Given the description of an element on the screen output the (x, y) to click on. 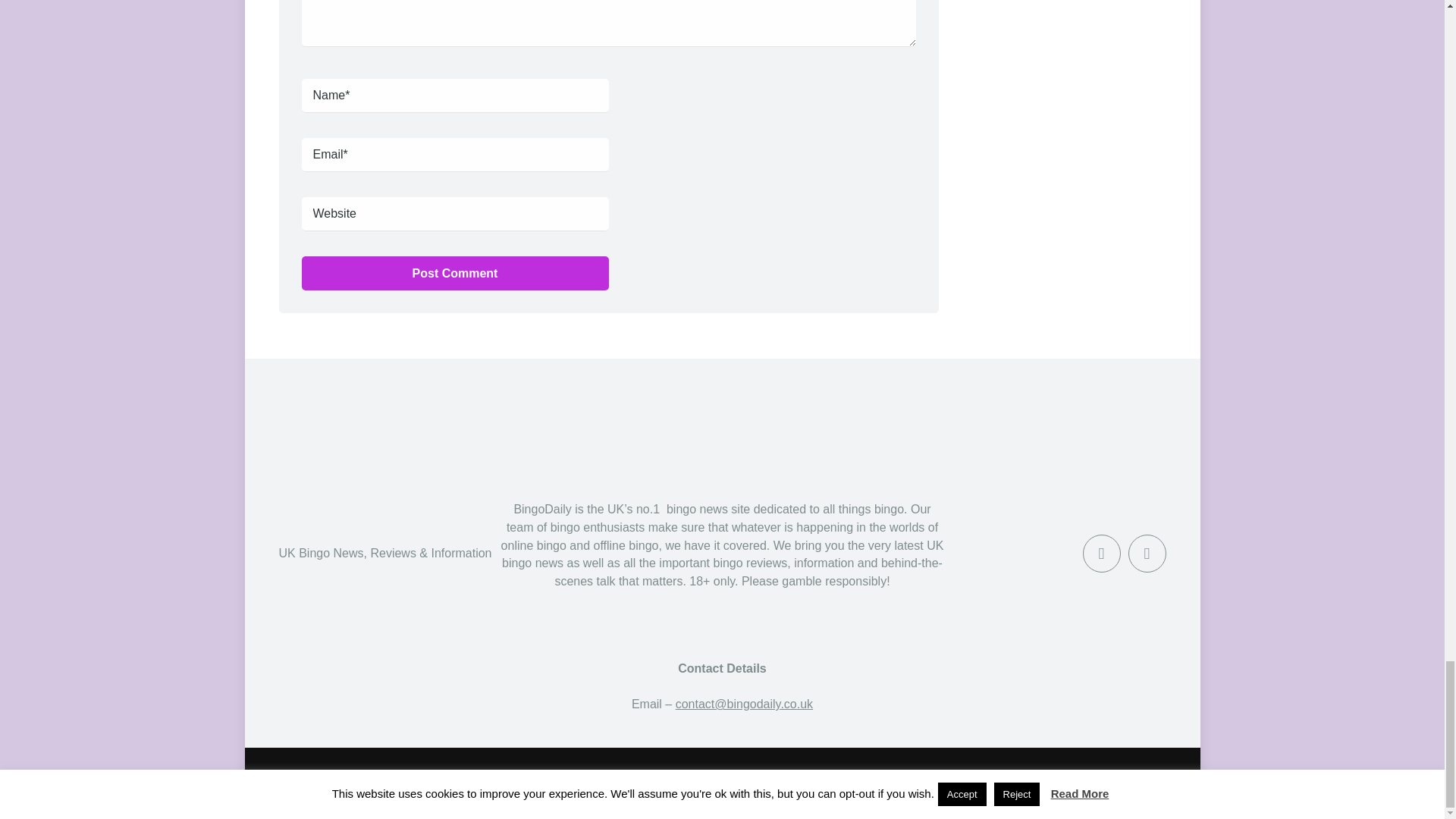
Twitter (1147, 553)
Facebook (1102, 553)
Post Comment (454, 273)
